Given the description of an element on the screen output the (x, y) to click on. 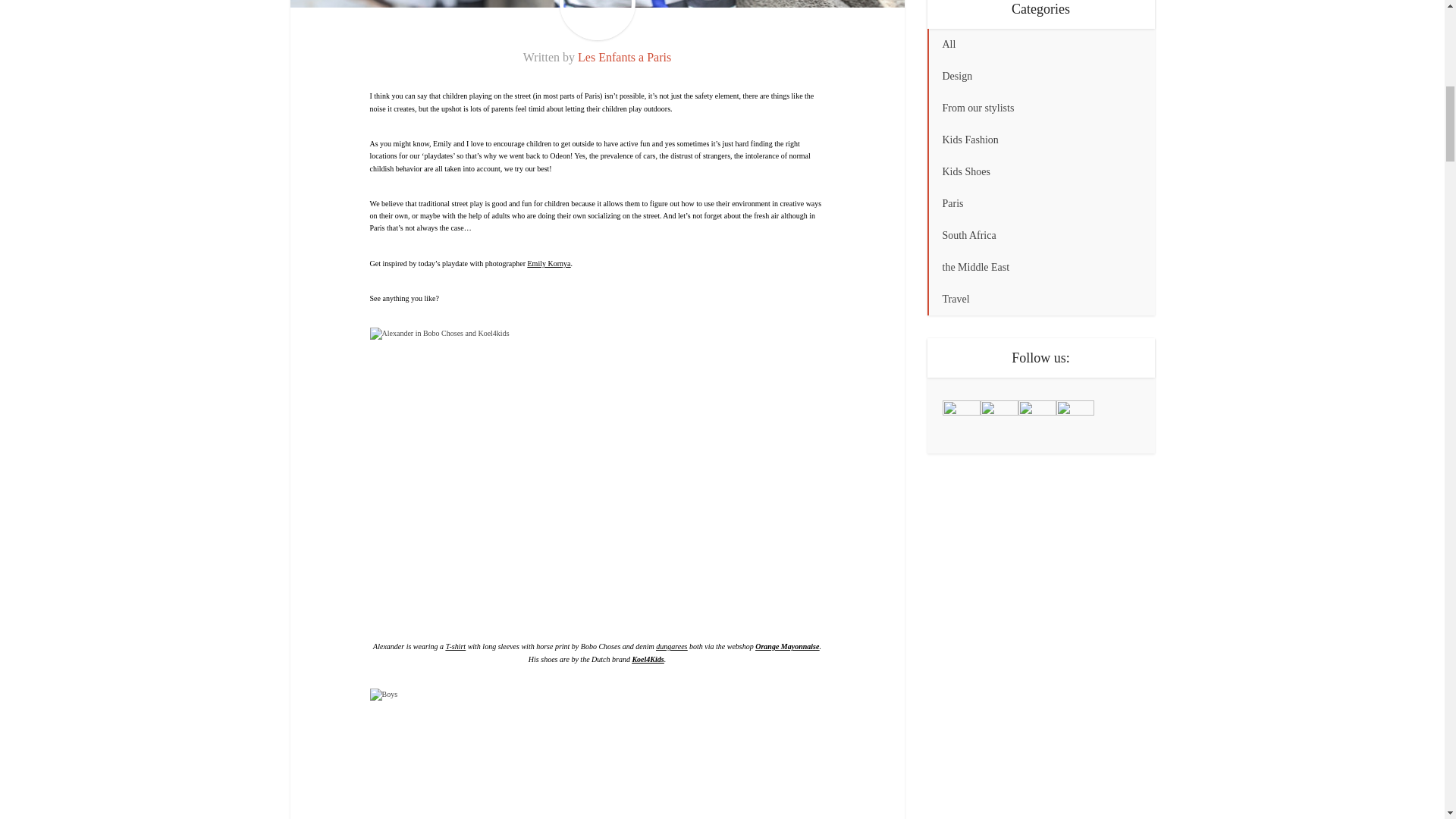
Emily Kornya (548, 263)
dungarees (671, 646)
Orange Mayonnaise (786, 646)
Les Enfants a Paris (624, 56)
T-shirt (455, 646)
